Given the description of an element on the screen output the (x, y) to click on. 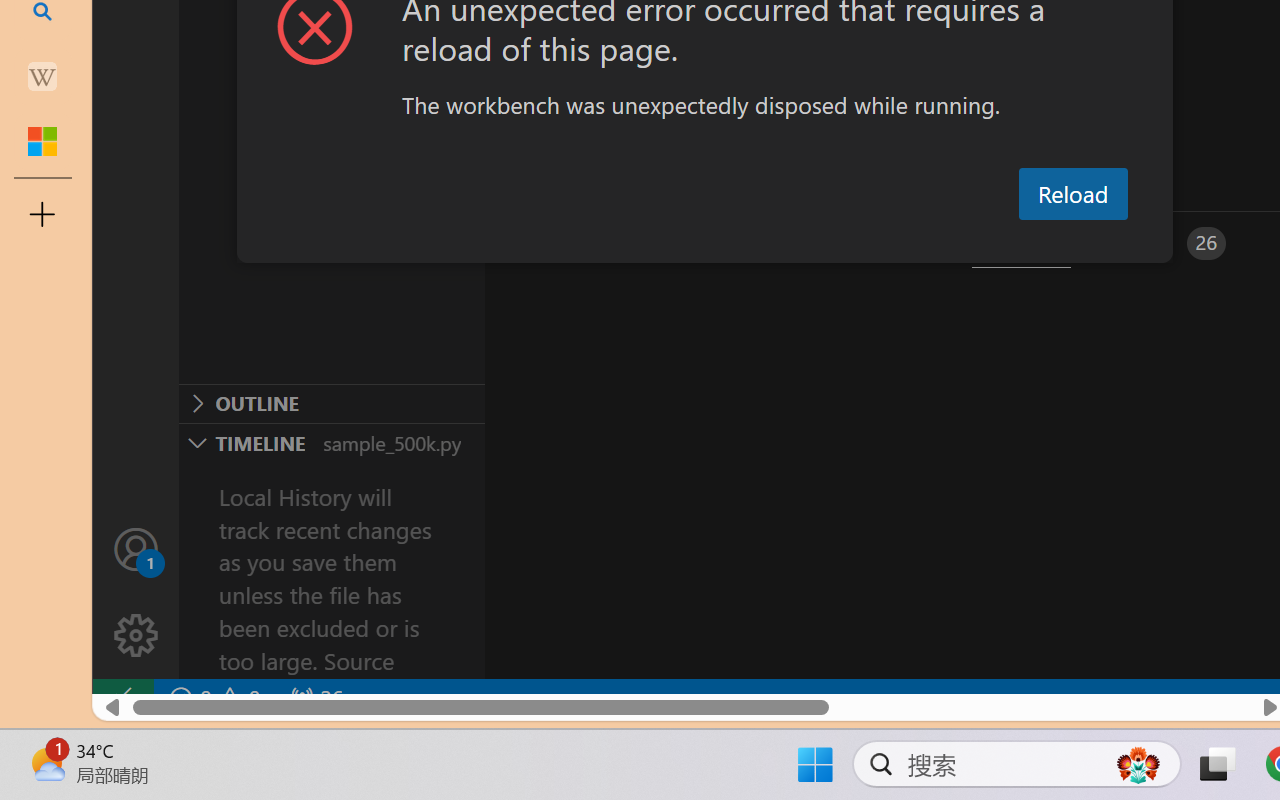
remote (122, 698)
Output (Ctrl+Shift+U) (696, 243)
Ports - 26 forwarded ports (1165, 243)
